Given the description of an element on the screen output the (x, y) to click on. 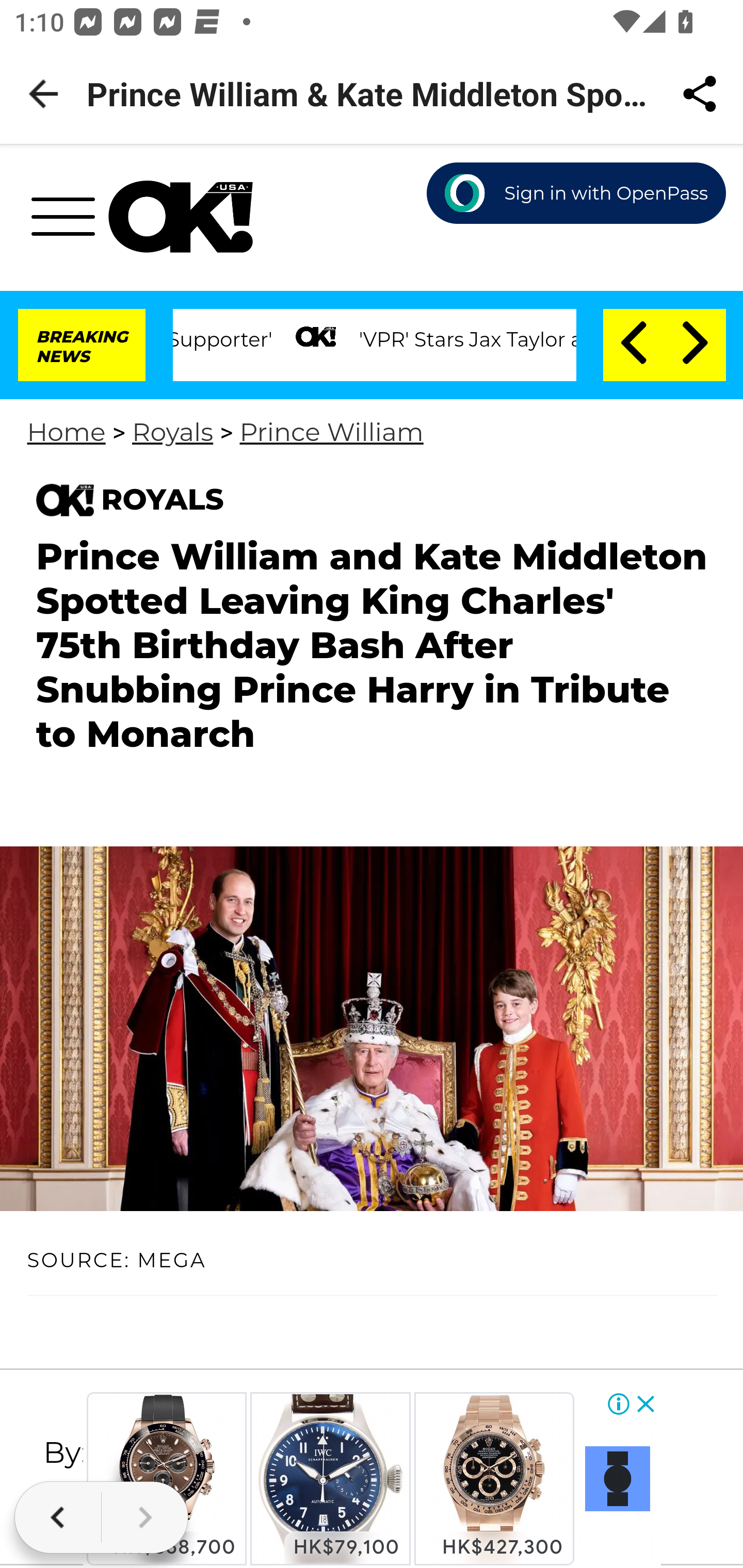
Sign in with OpenPass Button (576, 194)
toggle (70, 221)
OK Magazine (180, 217)
Home (65, 431)
Royals (172, 431)
Prince William (331, 431)
HK$358,700 (165, 1478)
HK$79,100 (330, 1478)
HK$427,300 (494, 1478)
